Given the description of an element on the screen output the (x, y) to click on. 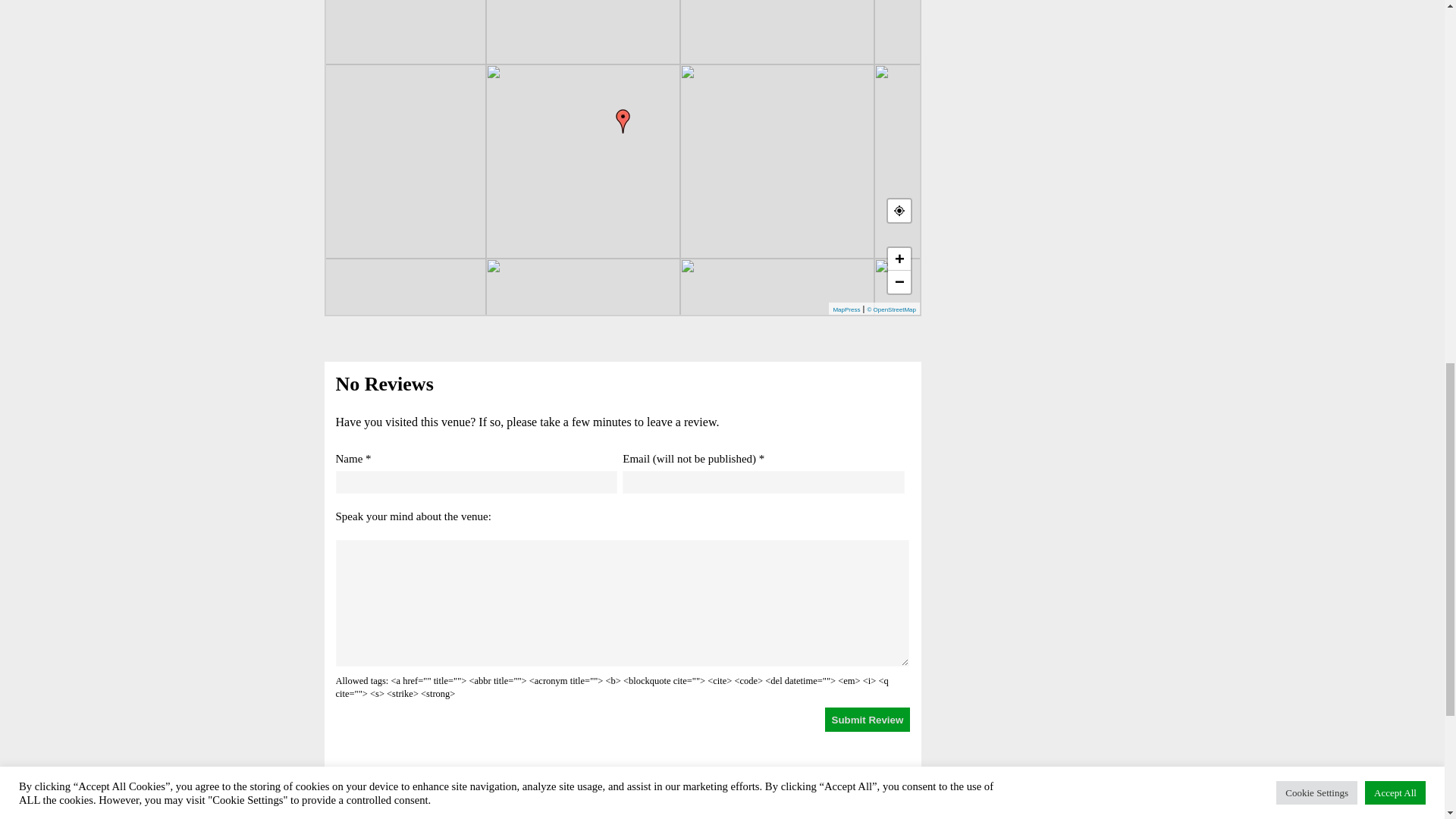
Submit Review (867, 719)
Submit Review (867, 719)
Your Location (899, 210)
MapPress (846, 309)
Advertisement (1027, 56)
